Given the description of an element on the screen output the (x, y) to click on. 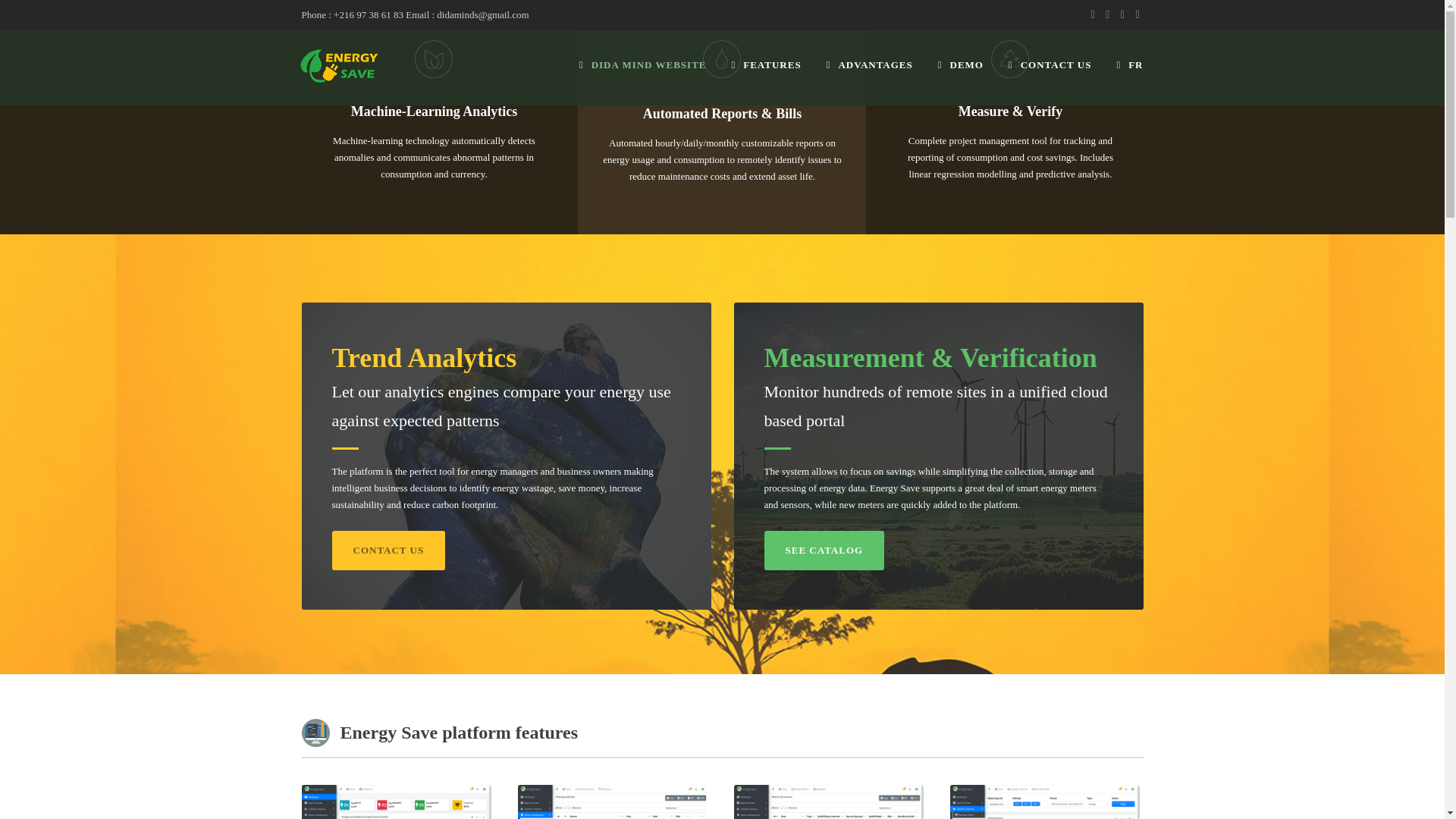
DEMO (973, 77)
DIDA MIND WEBSITE (655, 77)
CONTACT US (388, 550)
CONTACT US (1062, 77)
SEE CATALOG (824, 550)
FEATURES (777, 77)
ADVANTAGES (882, 77)
